Given the description of an element on the screen output the (x, y) to click on. 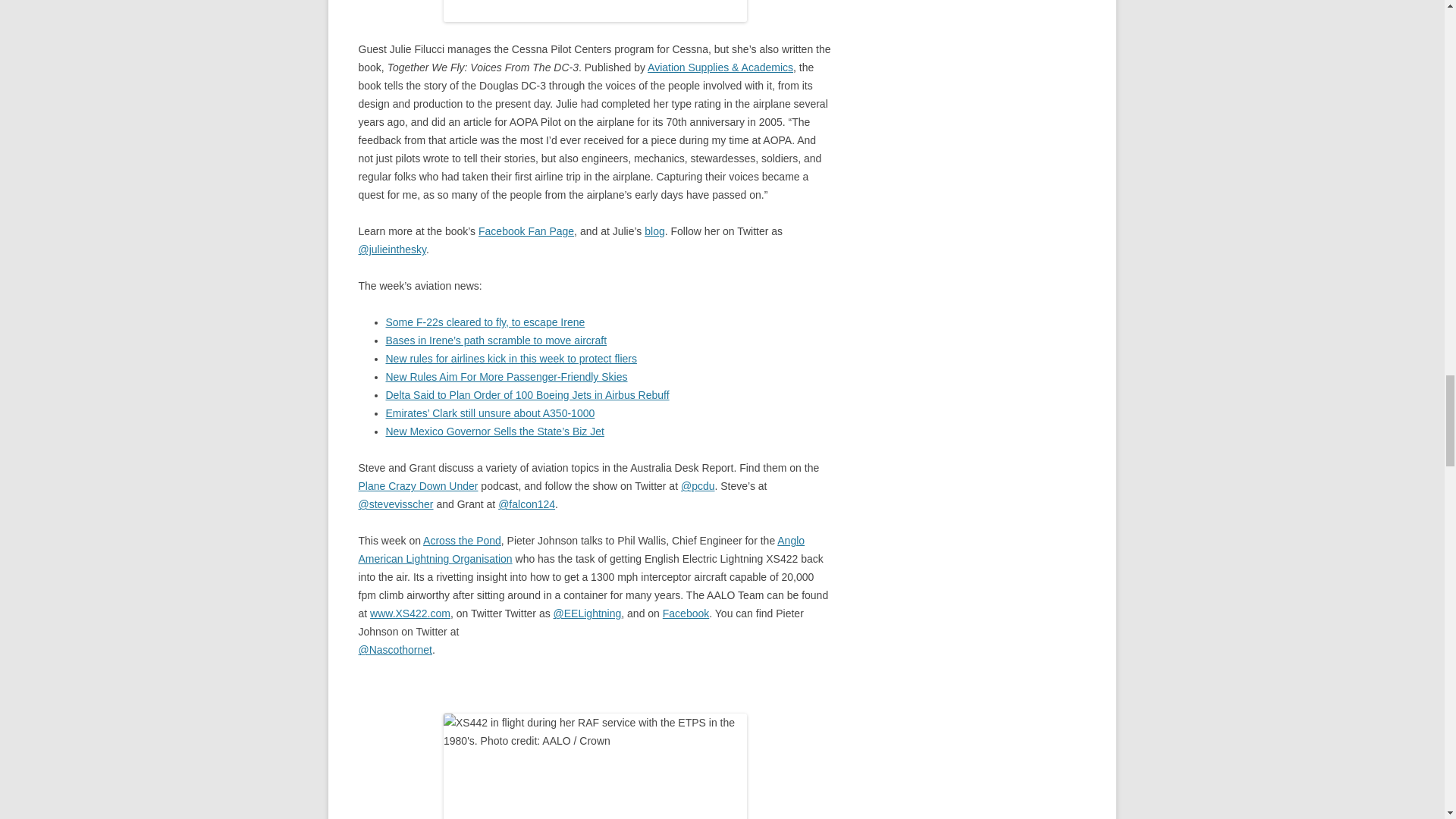
DC-3 by Paul Filmer (595, 11)
